Given the description of an element on the screen output the (x, y) to click on. 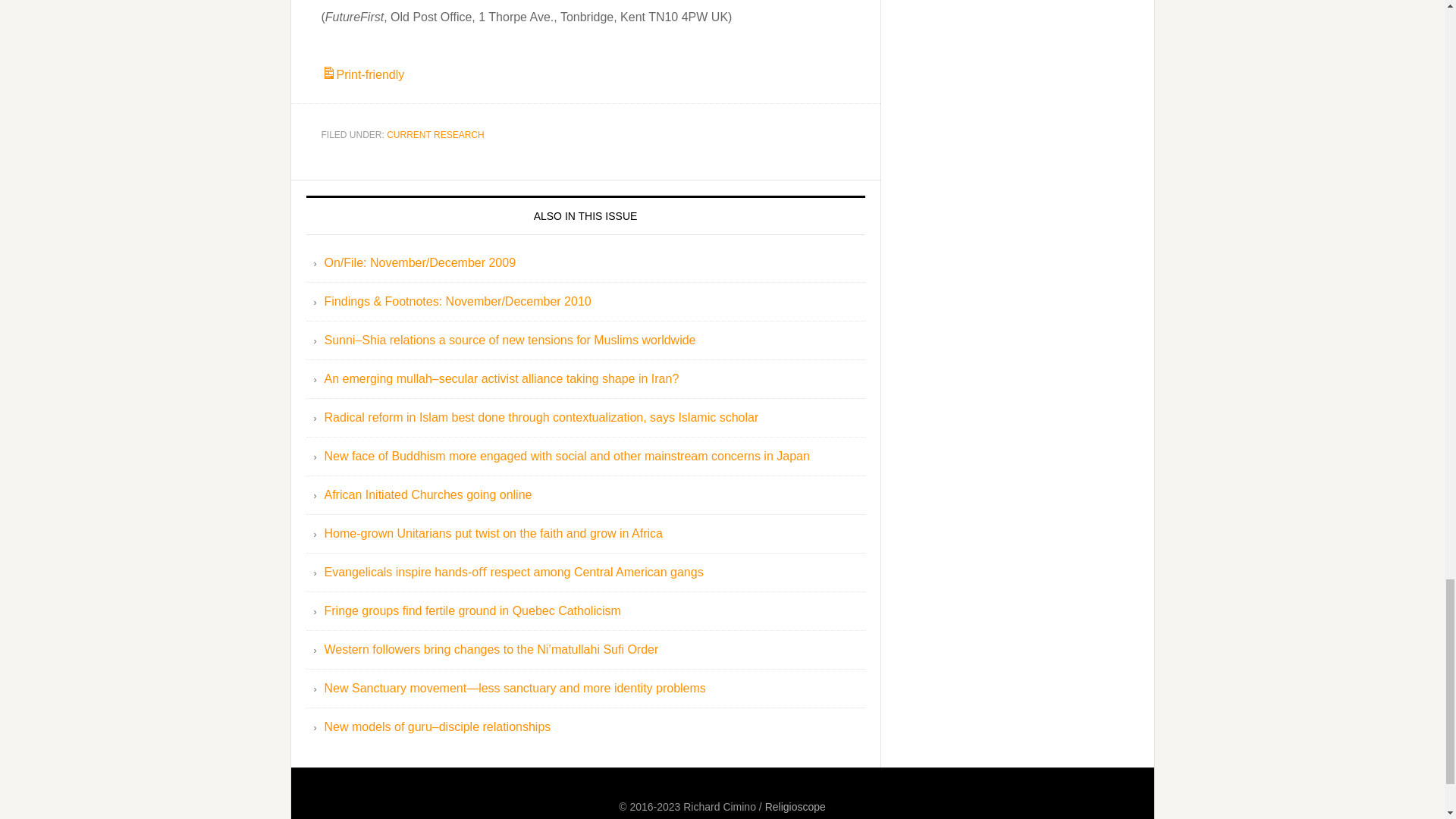
Print-friendly (362, 74)
Religioscope (795, 806)
CURRENT RESEARCH (435, 134)
African Initiated Churches going online (428, 494)
